Given the description of an element on the screen output the (x, y) to click on. 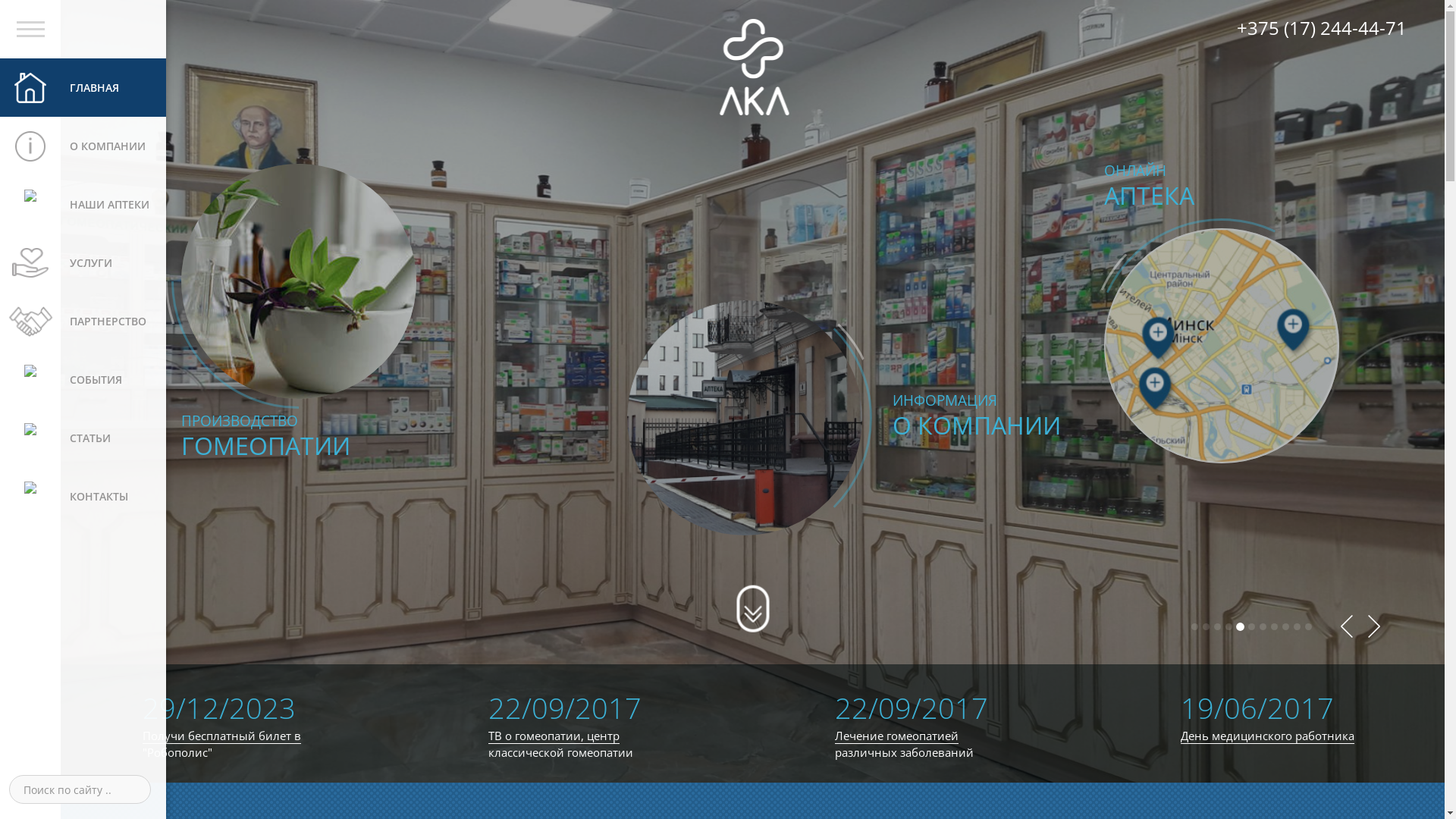
8 Element type: text (1273, 626)
10 Element type: text (1296, 626)
5 Element type: text (1239, 626)
7 Element type: text (1262, 626)
3 Element type: text (1217, 626)
1 Element type: text (1194, 626)
11 Element type: text (1308, 626)
6 Element type: text (1251, 626)
2 Element type: text (1204, 625)
4 Element type: text (1228, 626)
9 Element type: text (1285, 626)
